Given the description of an element on the screen output the (x, y) to click on. 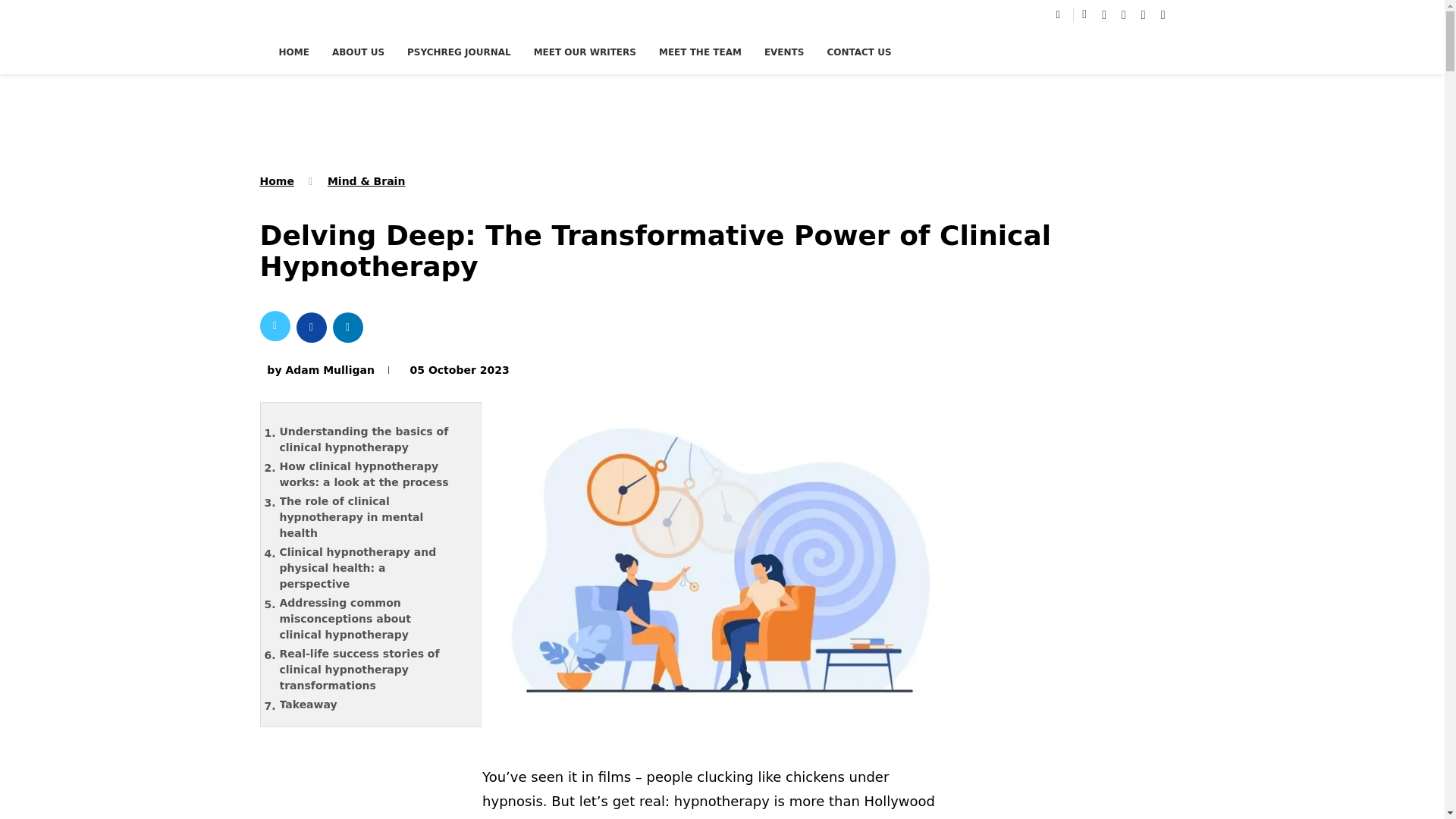
Understanding the basics of clinical hypnotherapy (373, 439)
ABOUT US (357, 52)
The role of clinical hypnotherapy in mental health (373, 517)
Addressing common misconceptions about clinical hypnotherapy (373, 618)
CONTACT US (859, 52)
PSYCHREG JOURNAL (459, 52)
EVENTS (784, 52)
Takeaway (373, 704)
MEET THE TEAM (700, 52)
MEET OUR WRITERS (585, 52)
How clinical hypnotherapy works: a look at the process (373, 474)
